Given the description of an element on the screen output the (x, y) to click on. 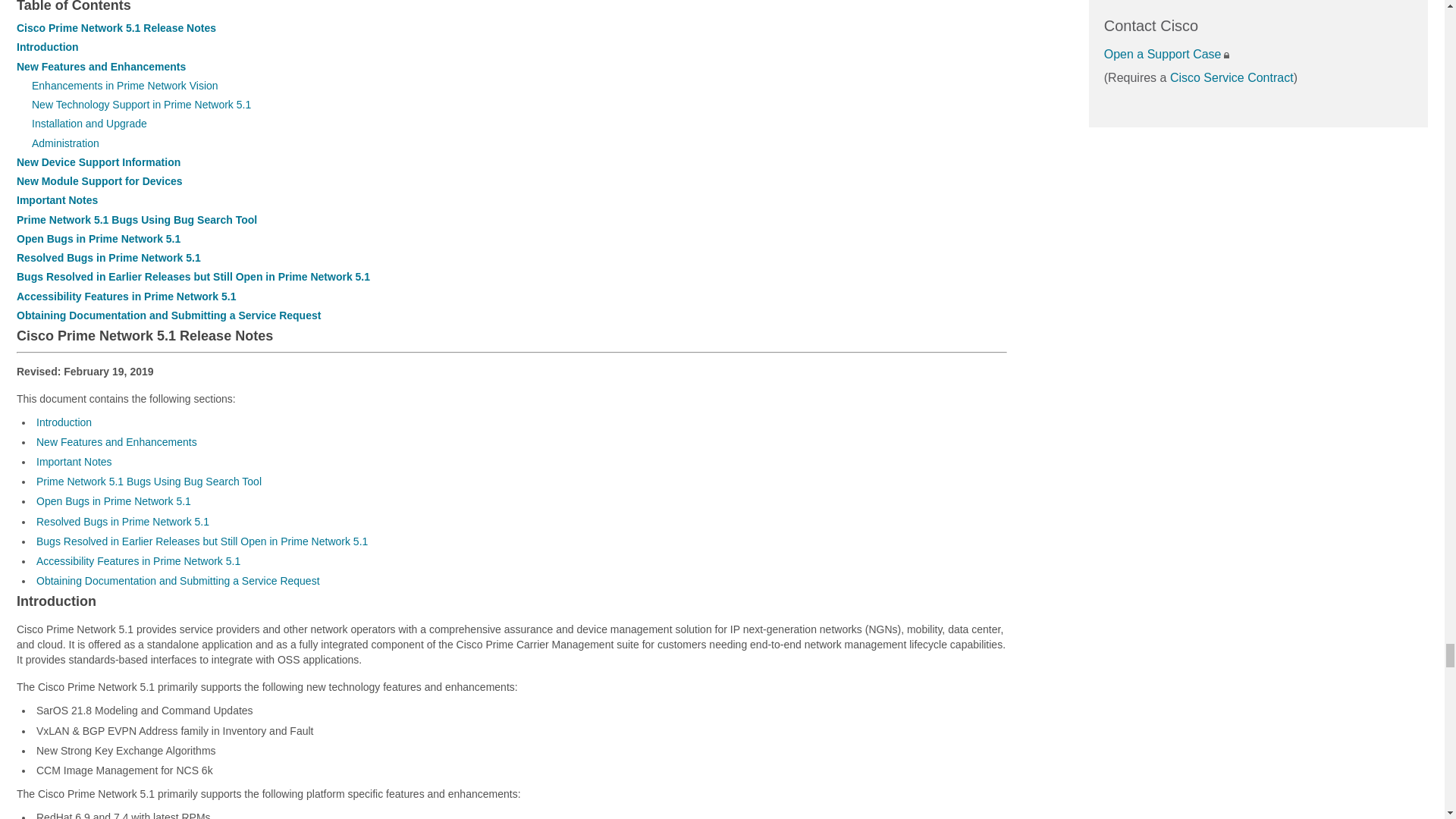
Enhancements in Prime Network Vision (125, 85)
New Technology Support in Prime Network 5.1 (141, 104)
Introduction (47, 46)
Cisco Prime Network 5.1 Release Notes (115, 28)
New Features and Enhancements (101, 66)
